Given the description of an element on the screen output the (x, y) to click on. 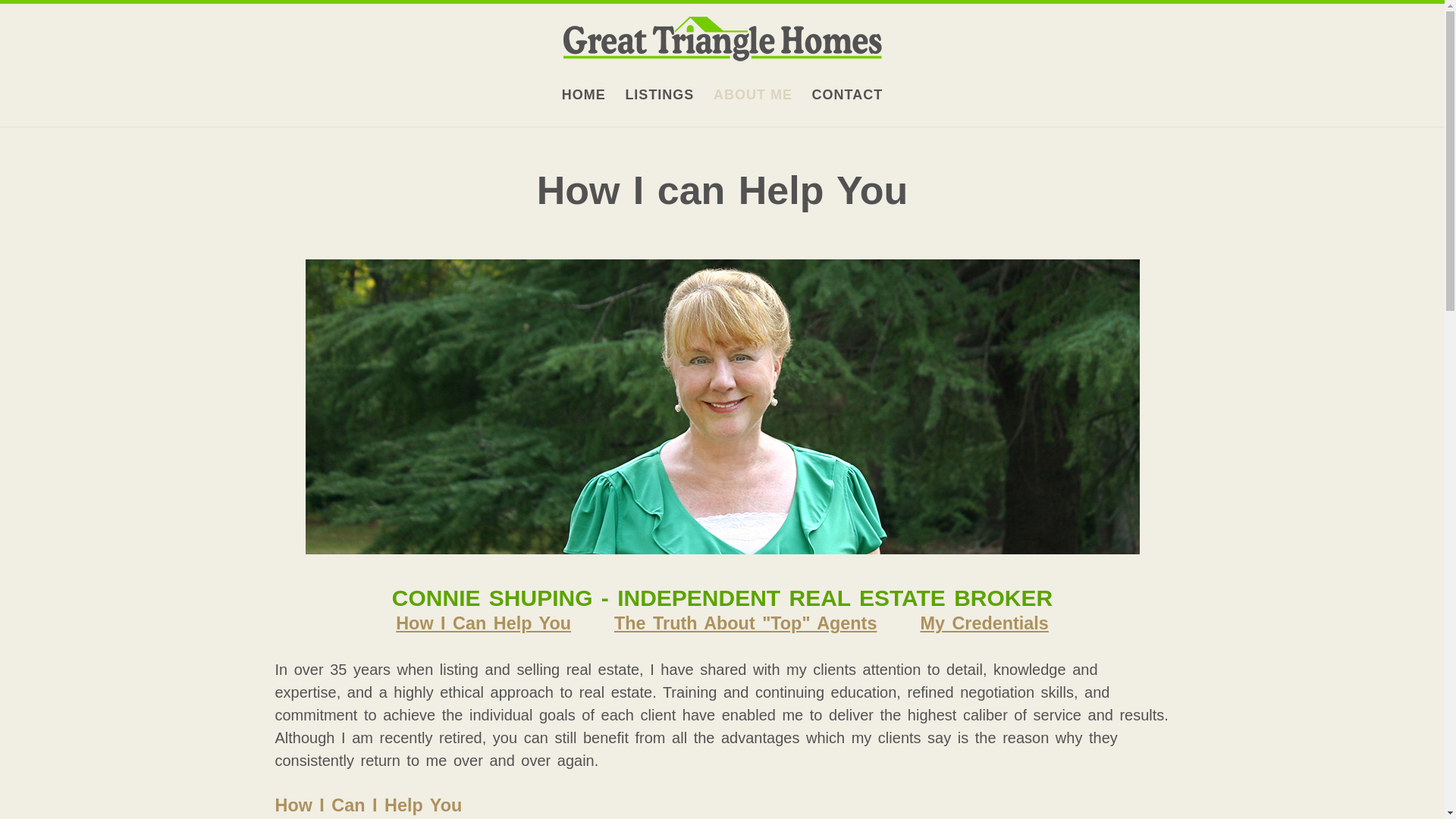
HOME (583, 95)
Our Team (752, 95)
Home (721, 40)
CONTACT (847, 95)
Great Triangle Homes (583, 95)
Contact (847, 95)
LISTINGS (659, 95)
ABOUT ME (752, 95)
